Given the description of an element on the screen output the (x, y) to click on. 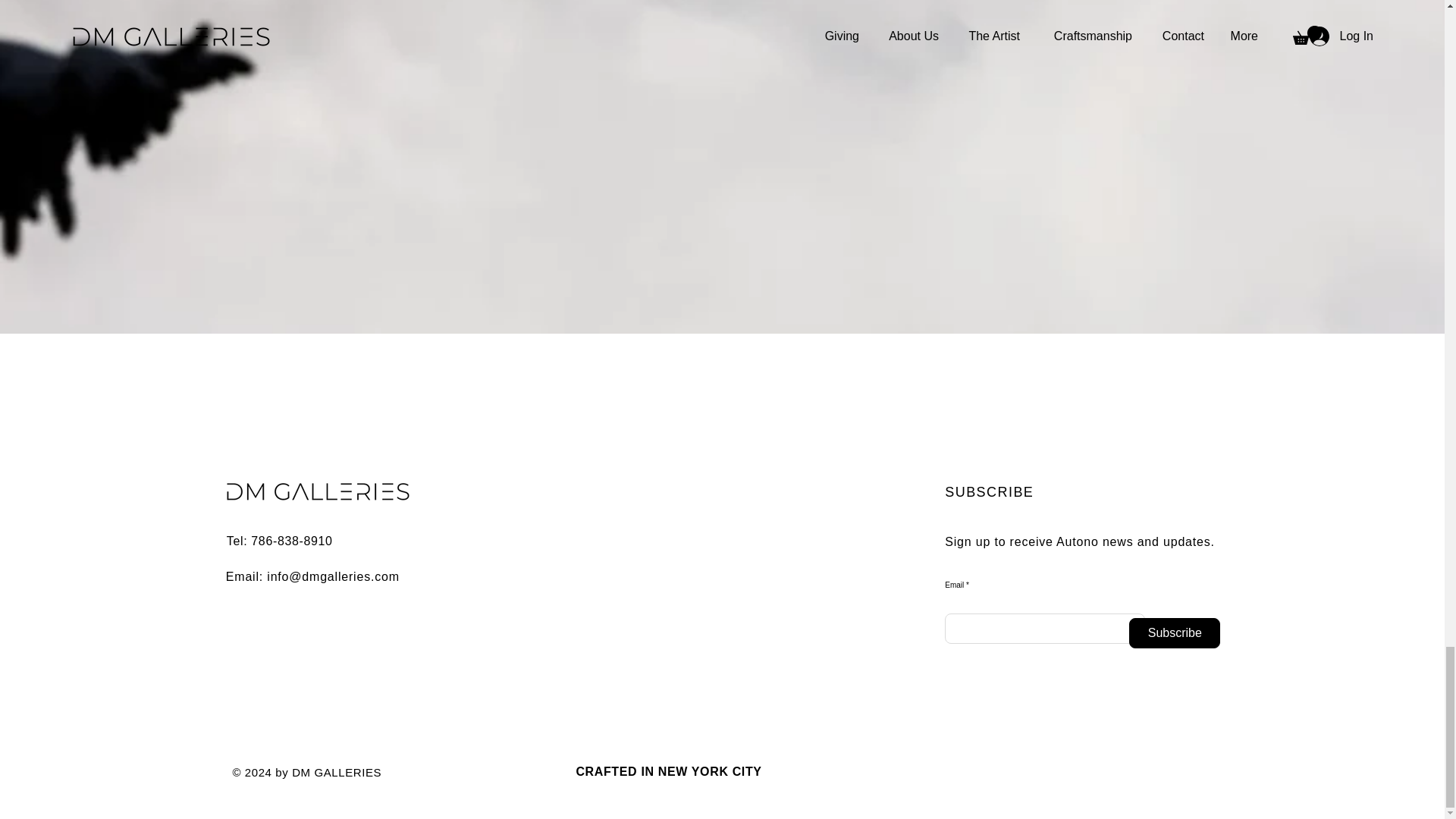
CRAFTED IN NEW YORK CITY (668, 771)
Subscribe (1174, 633)
